Given the description of an element on the screen output the (x, y) to click on. 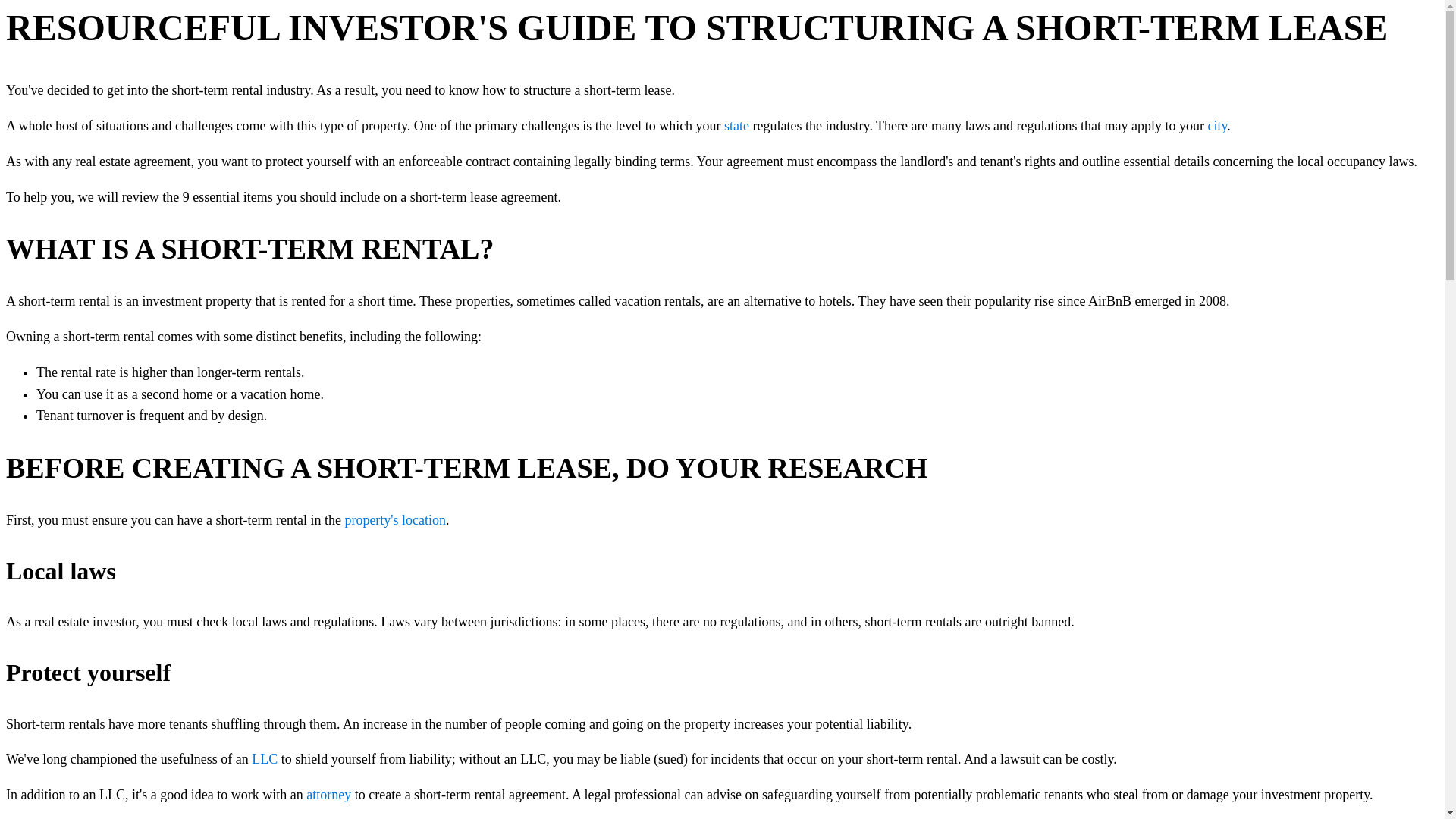
attorney (327, 794)
city (1217, 125)
LLC (264, 758)
property's location (394, 519)
state (736, 125)
